Given the description of an element on the screen output the (x, y) to click on. 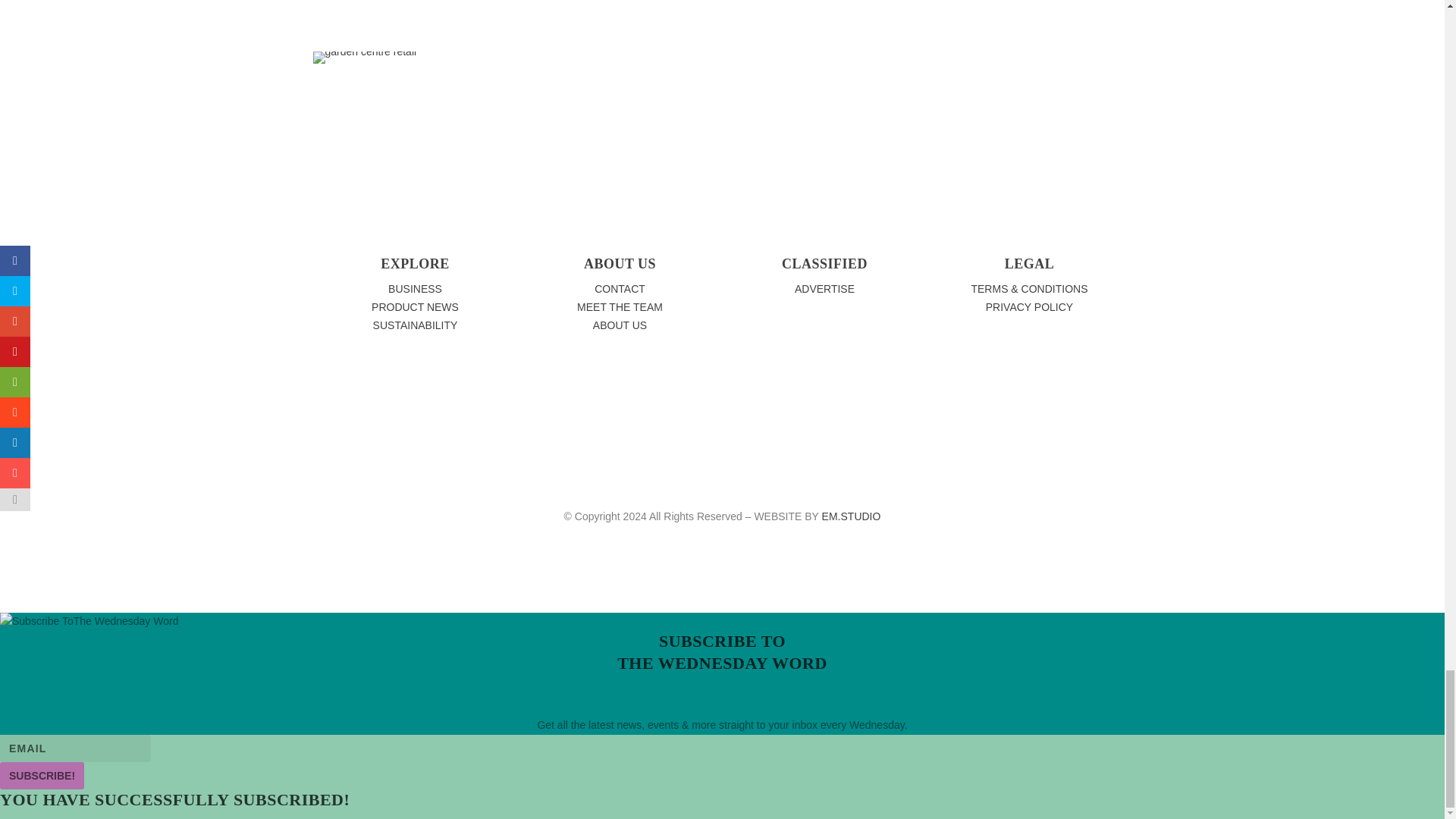
Follow on LinkedIn (847, 63)
Follow on Instagram (817, 63)
Follow on Twitter (786, 63)
Follow on Facebook (756, 63)
